Given the description of an element on the screen output the (x, y) to click on. 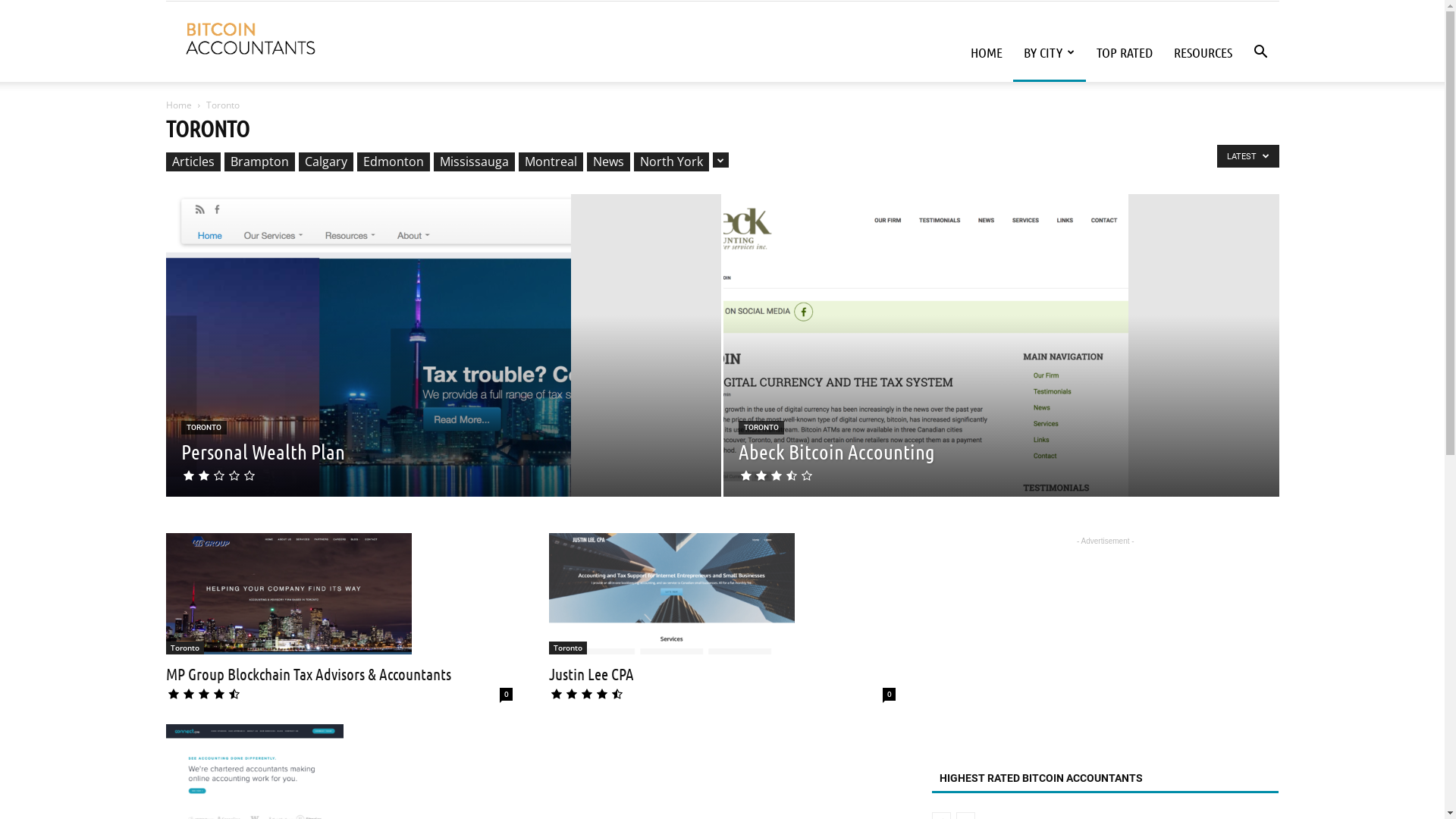
Personal Wealth Plan Element type: hover (367, 369)
Toronto Element type: text (184, 647)
TORONTO Element type: text (761, 427)
Articles Element type: text (192, 161)
North York Element type: text (671, 161)
Advertisement Element type: hover (1105, 643)
Abeck Bitcoin Accounting Element type: text (836, 451)
HOME Element type: text (986, 51)
Personal Wealth Plan Element type: hover (443, 369)
Montreal Element type: text (550, 161)
MP Group Blockchain Tax Advisors & Accountants Element type: hover (338, 593)
MP Group Blockchain Tax Advisors & Accountants Element type: text (307, 673)
Abeck Bitcoin Accounting Element type: hover (925, 369)
Toronto Element type: text (567, 647)
Search Element type: text (1237, 124)
TORONTO Element type: text (202, 427)
Edmonton Element type: text (392, 161)
MP Group Blockchain Tax Advisors & Accountants Element type: hover (288, 593)
Mississauga Element type: text (473, 161)
Brampton Element type: text (259, 161)
Abeck Bitcoin Accounting Element type: hover (1001, 369)
RESOURCES Element type: text (1202, 51)
Justin Lee CPA Element type: hover (722, 593)
Calgary Element type: text (325, 161)
Personal Wealth Plan Element type: text (262, 451)
Justin Lee CPA Element type: hover (671, 593)
BY CITY Element type: text (1049, 51)
Home Element type: text (178, 104)
TOP RATED Element type: text (1124, 51)
0 Element type: text (888, 693)
Justin Lee CPA Element type: text (591, 673)
0 Element type: text (505, 693)
News Element type: text (608, 161)
